Given the description of an element on the screen output the (x, y) to click on. 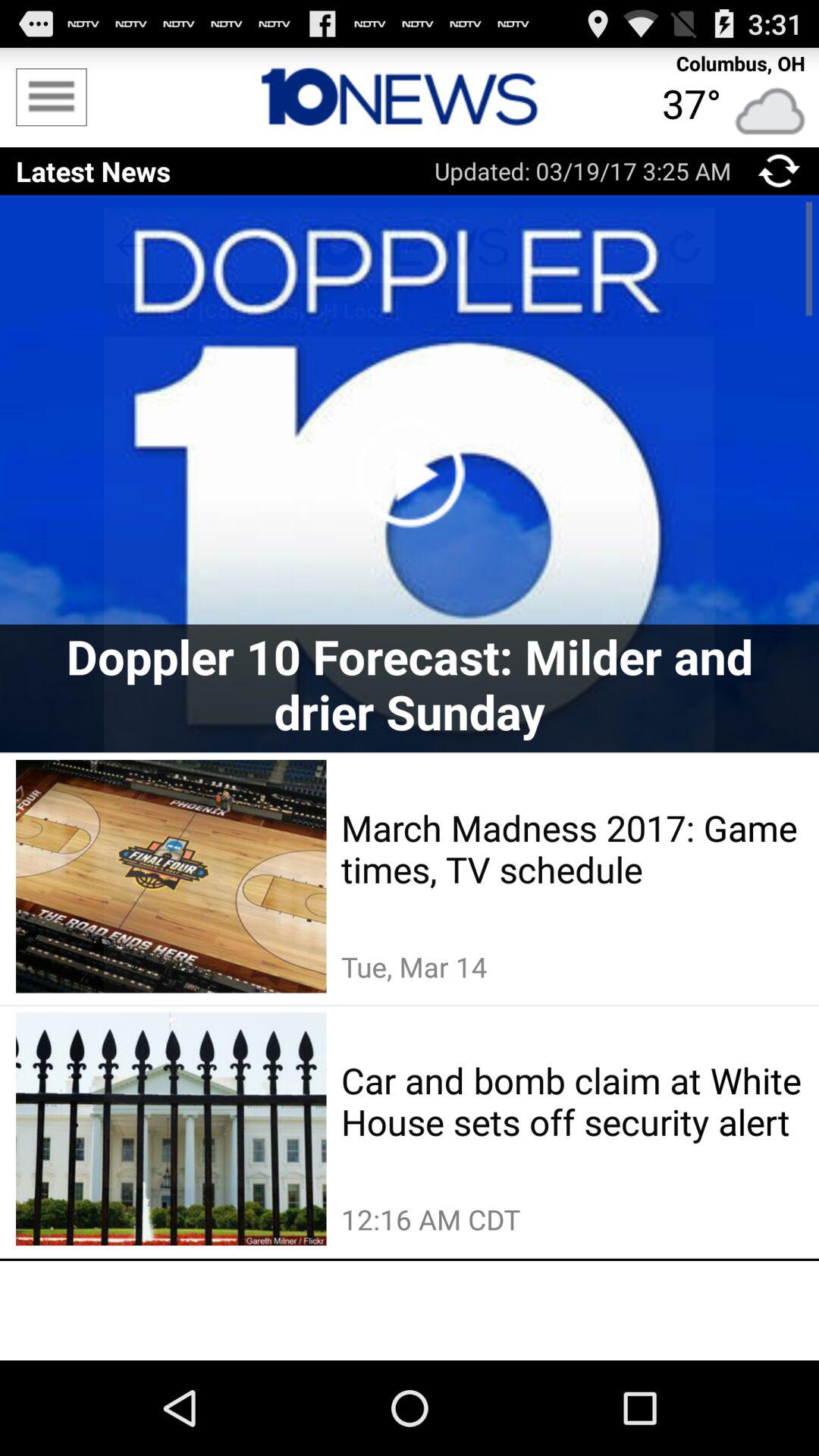
menu list (51, 97)
